Given the description of an element on the screen output the (x, y) to click on. 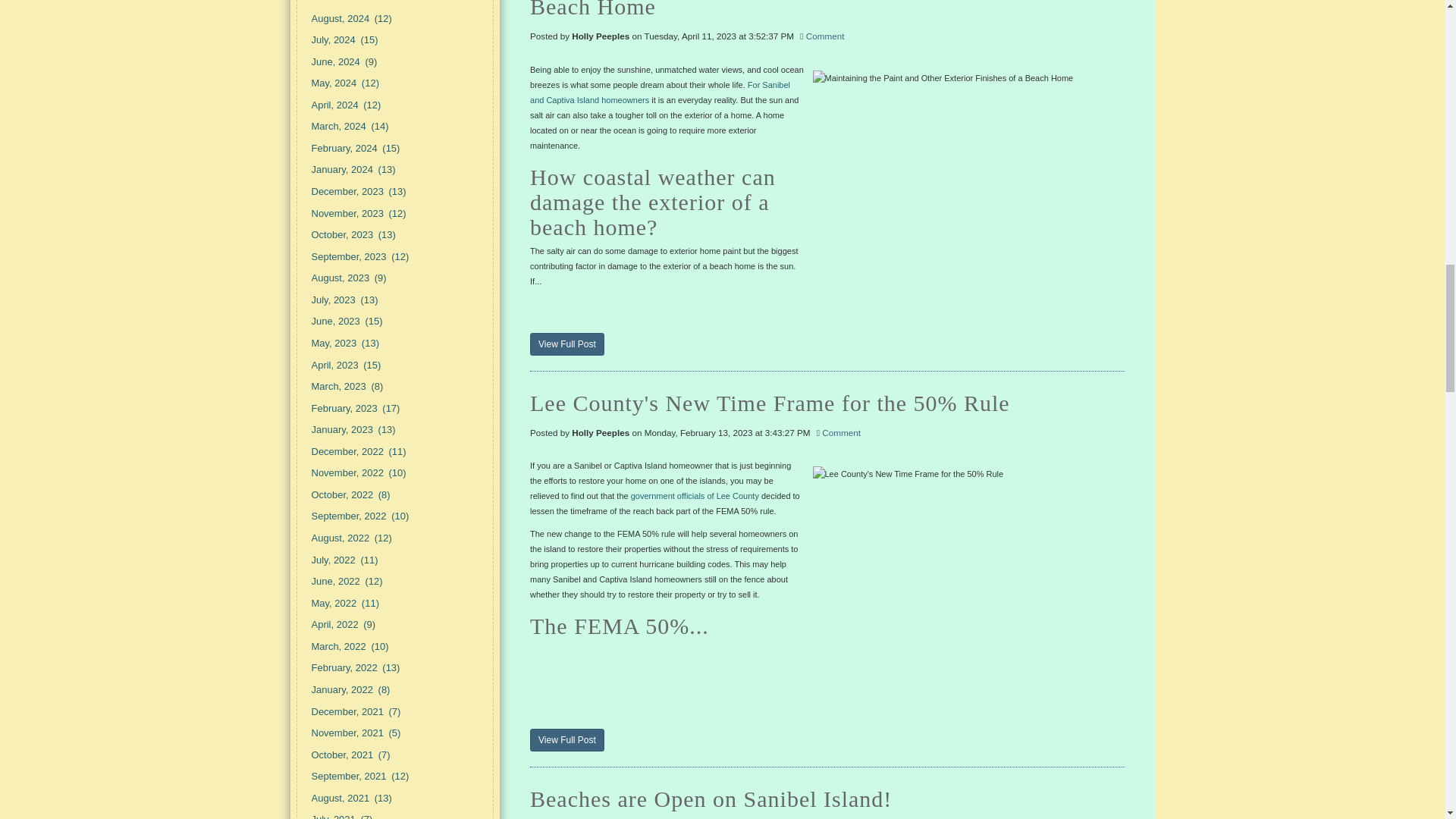
Beaches are Open on Sanibel Island! (826, 796)
